Given the description of an element on the screen output the (x, y) to click on. 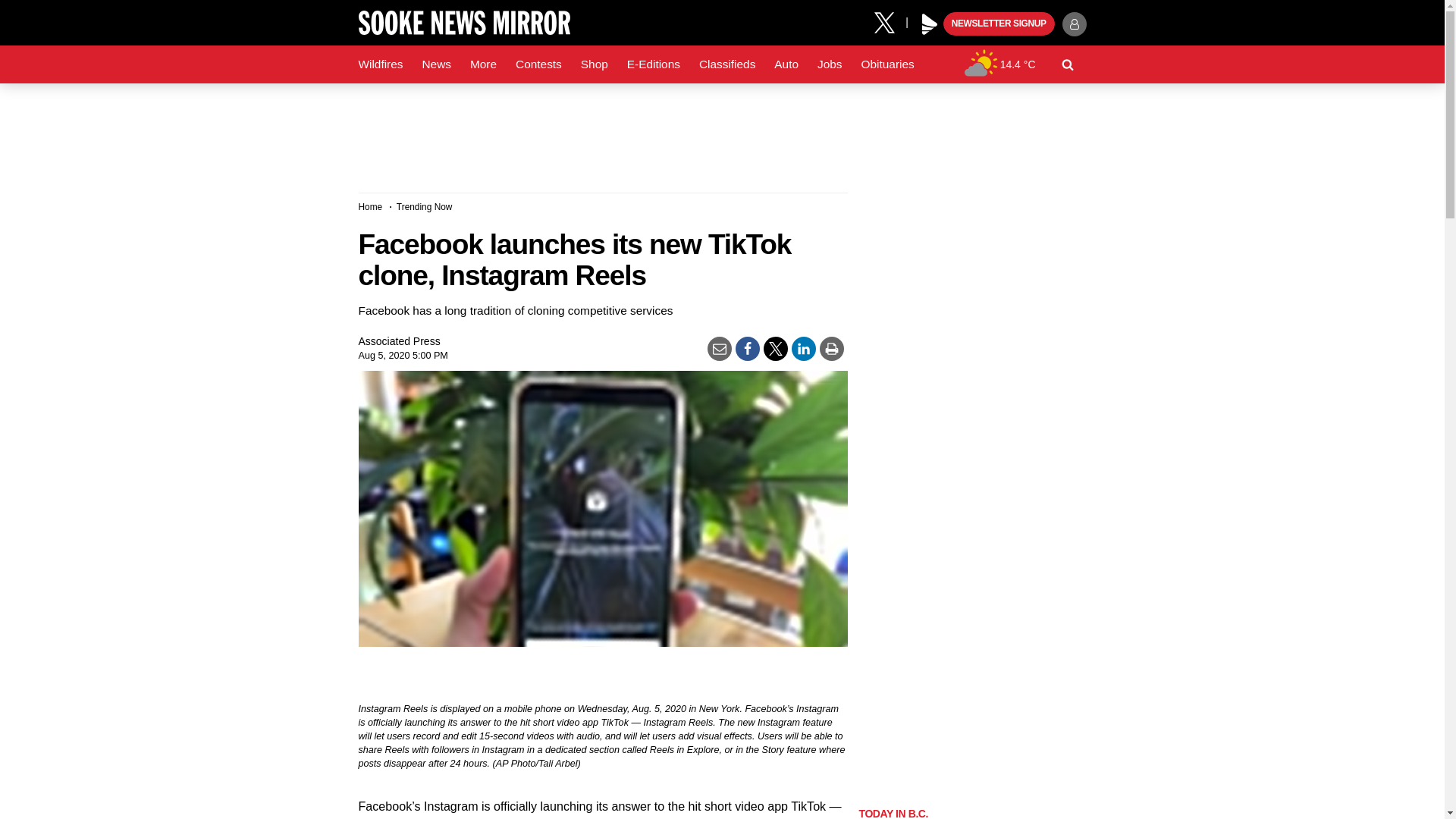
Play (929, 24)
Black Press Media (929, 24)
X (889, 21)
NEWSLETTER SIGNUP (998, 24)
News (435, 64)
Wildfires (380, 64)
